Given the description of an element on the screen output the (x, y) to click on. 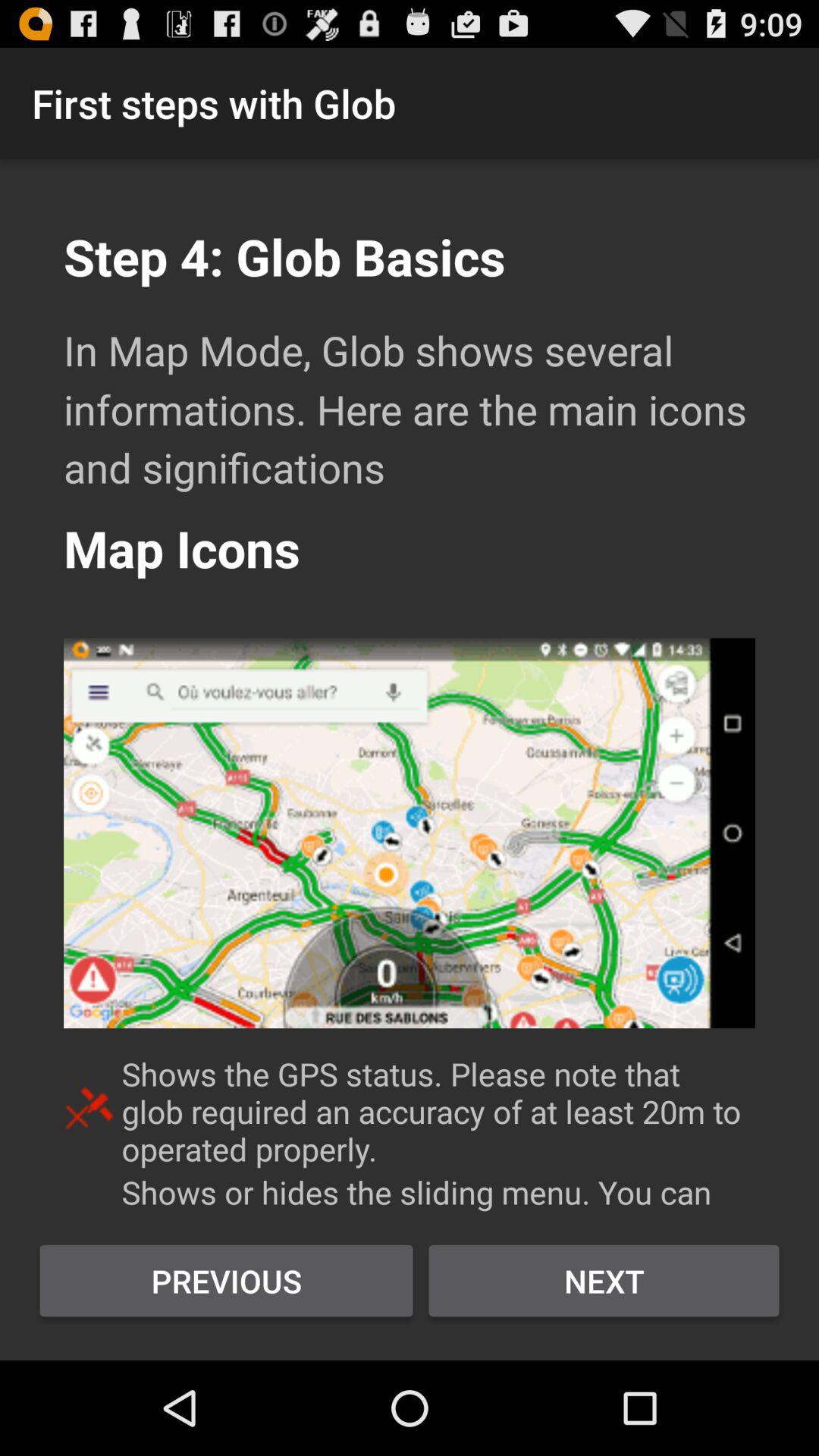
choose the item below the shows or hides (603, 1280)
